Given the description of an element on the screen output the (x, y) to click on. 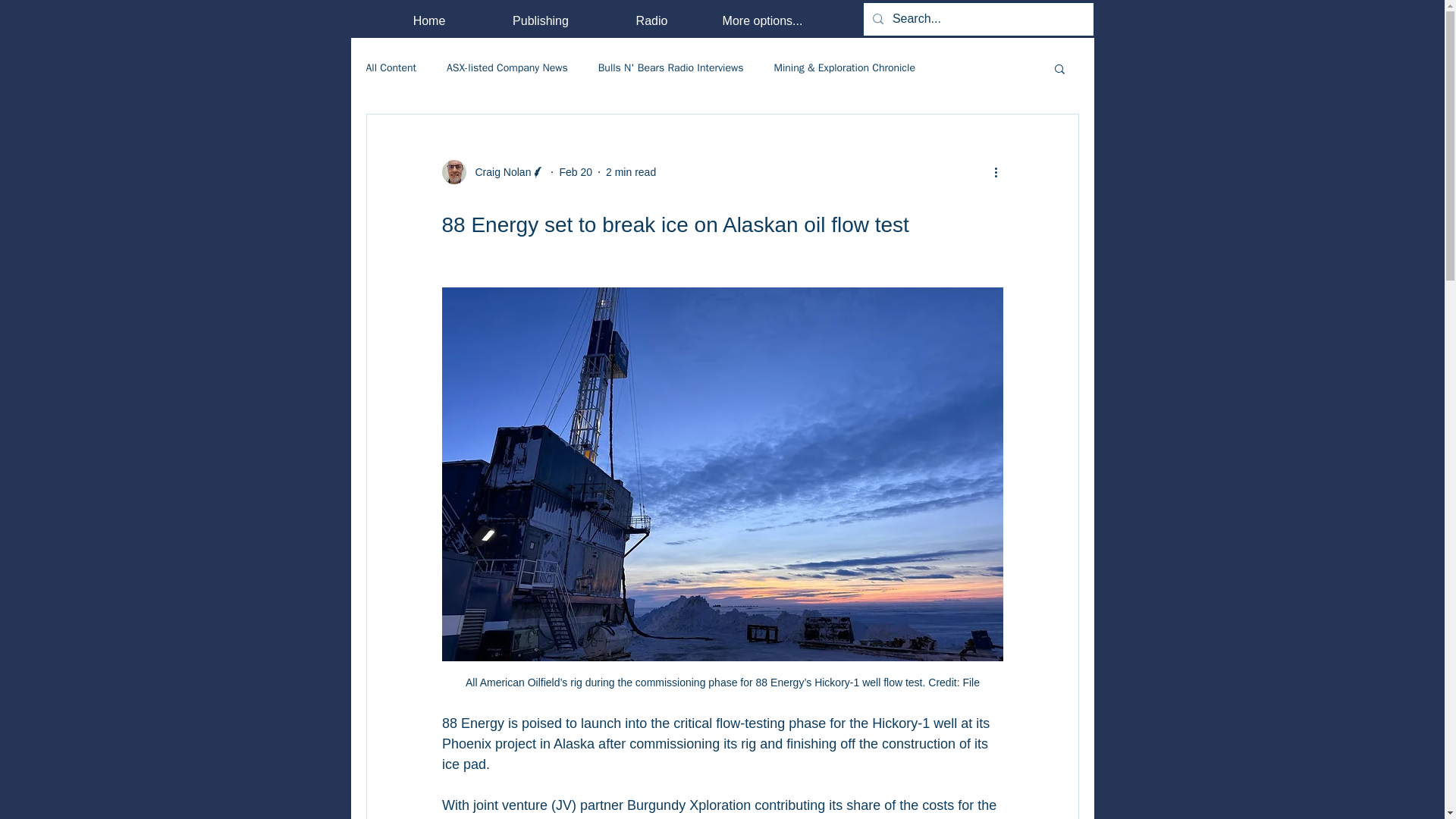
2 min read (630, 171)
Home (428, 20)
ASX-listed Company News (506, 68)
Bulls N' Bears Radio Interviews (671, 68)
Craig Nolan (492, 171)
Craig Nolan (498, 171)
Feb 20 (575, 171)
All Content (390, 68)
